Given the description of an element on the screen output the (x, y) to click on. 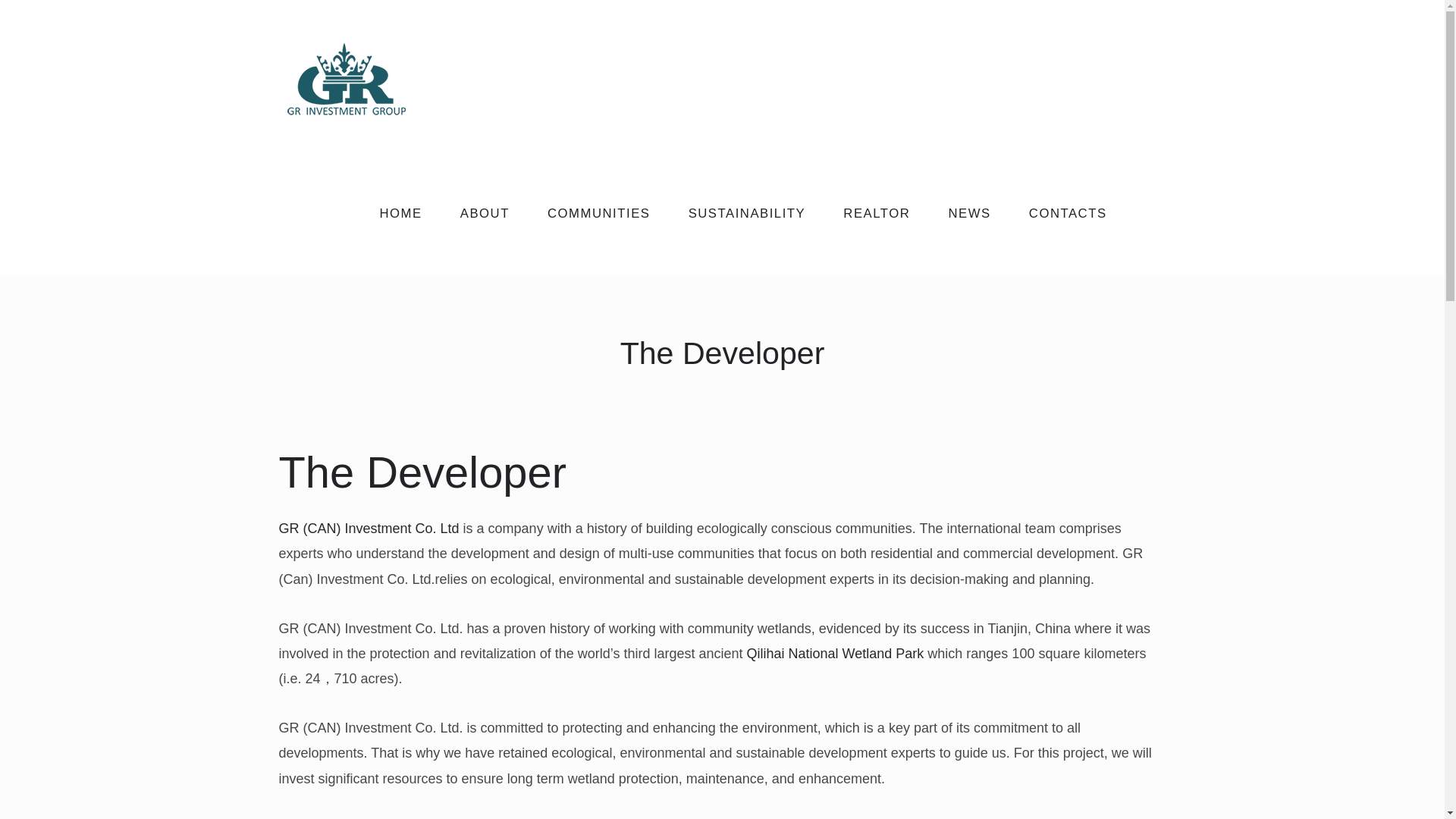
COMMUNITIES (598, 213)
NEWS (968, 213)
SUSTAINABILITY (747, 213)
CONTACTS (1067, 213)
ABOUT (484, 213)
HOME (400, 213)
REALTOR (876, 213)
